Given the description of an element on the screen output the (x, y) to click on. 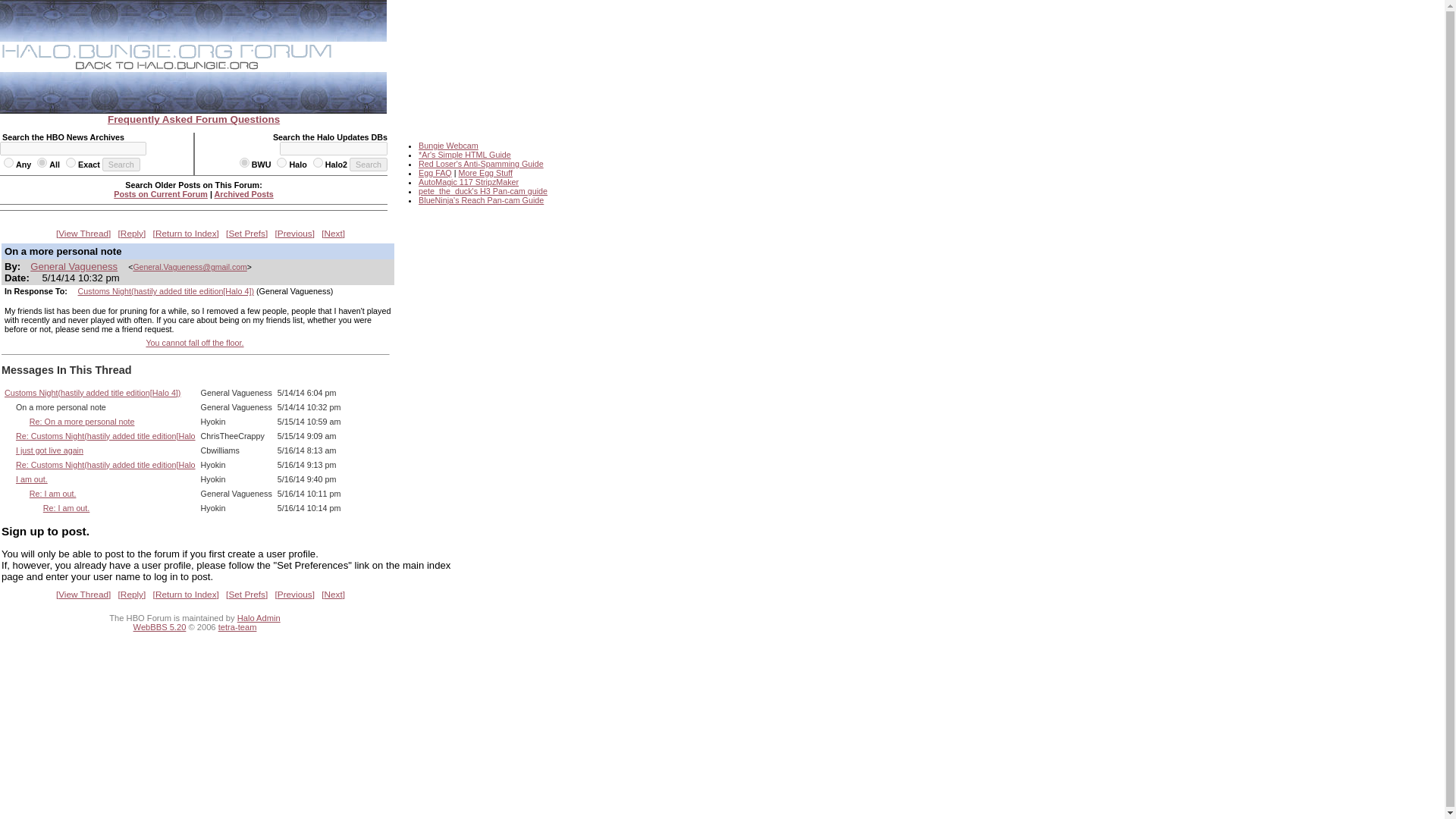
Archived Posts (243, 194)
I am out. (32, 479)
Search (368, 164)
Red Loser's Anti-Spamming Guide (481, 163)
BlueNinja's Reach Pan-cam Guide (481, 199)
exact (70, 162)
Re: On a more personal note (82, 420)
Return to Index (185, 232)
Return to Index (185, 593)
Re: I am out. (53, 492)
